Given the description of an element on the screen output the (x, y) to click on. 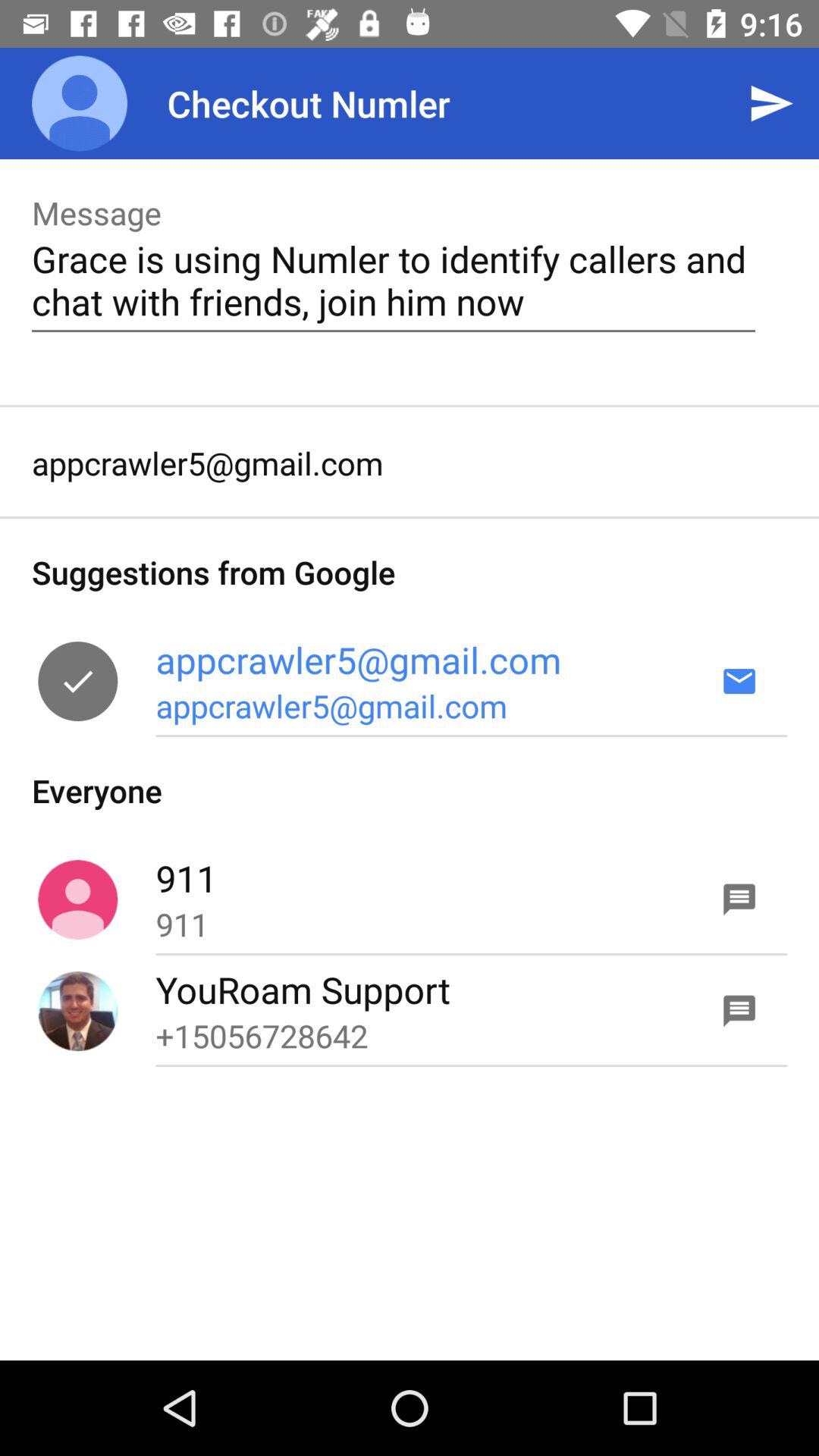
launch the icon to the right of checkout numler app (771, 103)
